Given the description of an element on the screen output the (x, y) to click on. 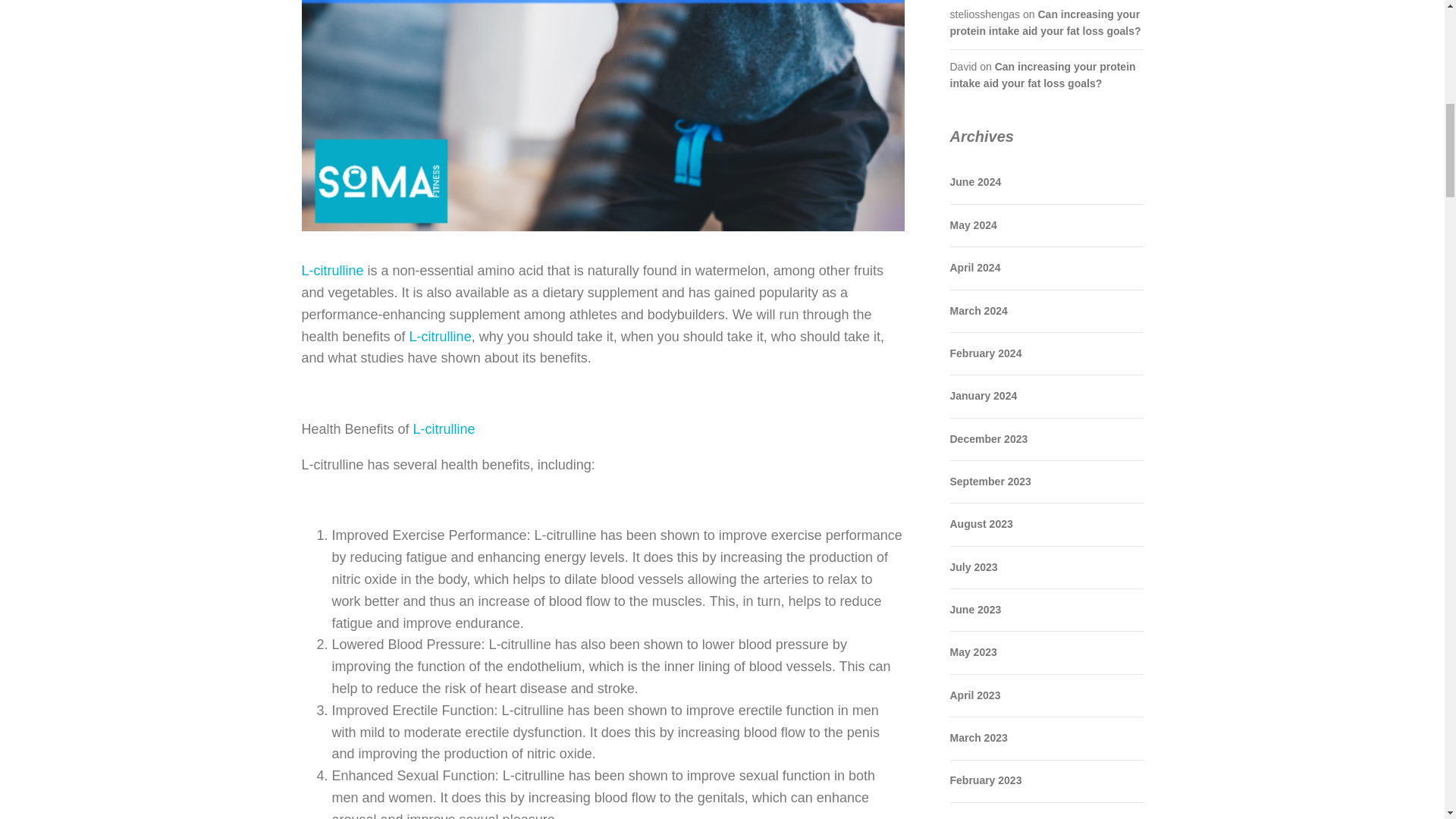
L-citrulline (442, 428)
L-citrulline (440, 336)
L-citrulline (332, 270)
Can increasing your protein intake aid your fat loss goals? (1044, 22)
